Given the description of an element on the screen output the (x, y) to click on. 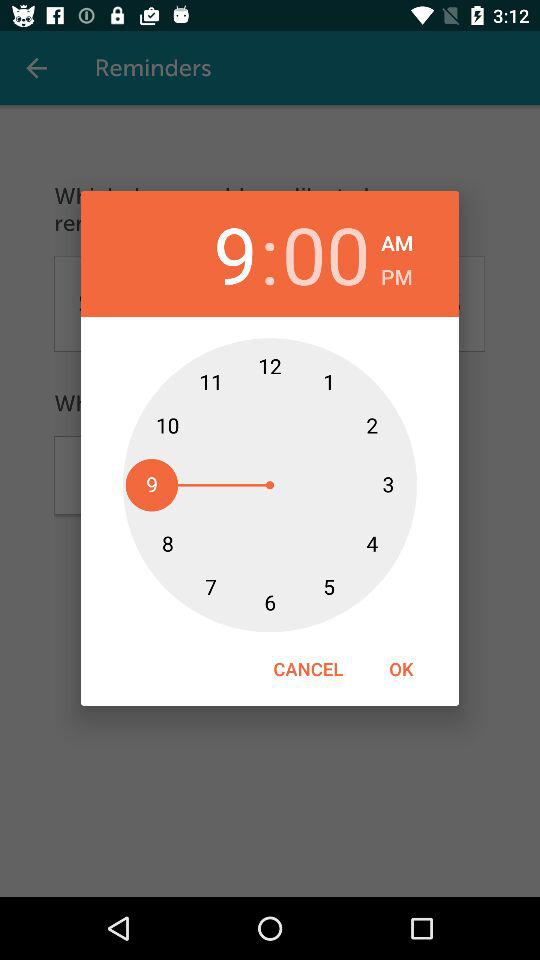
swipe until the 00 (325, 253)
